Given the description of an element on the screen output the (x, y) to click on. 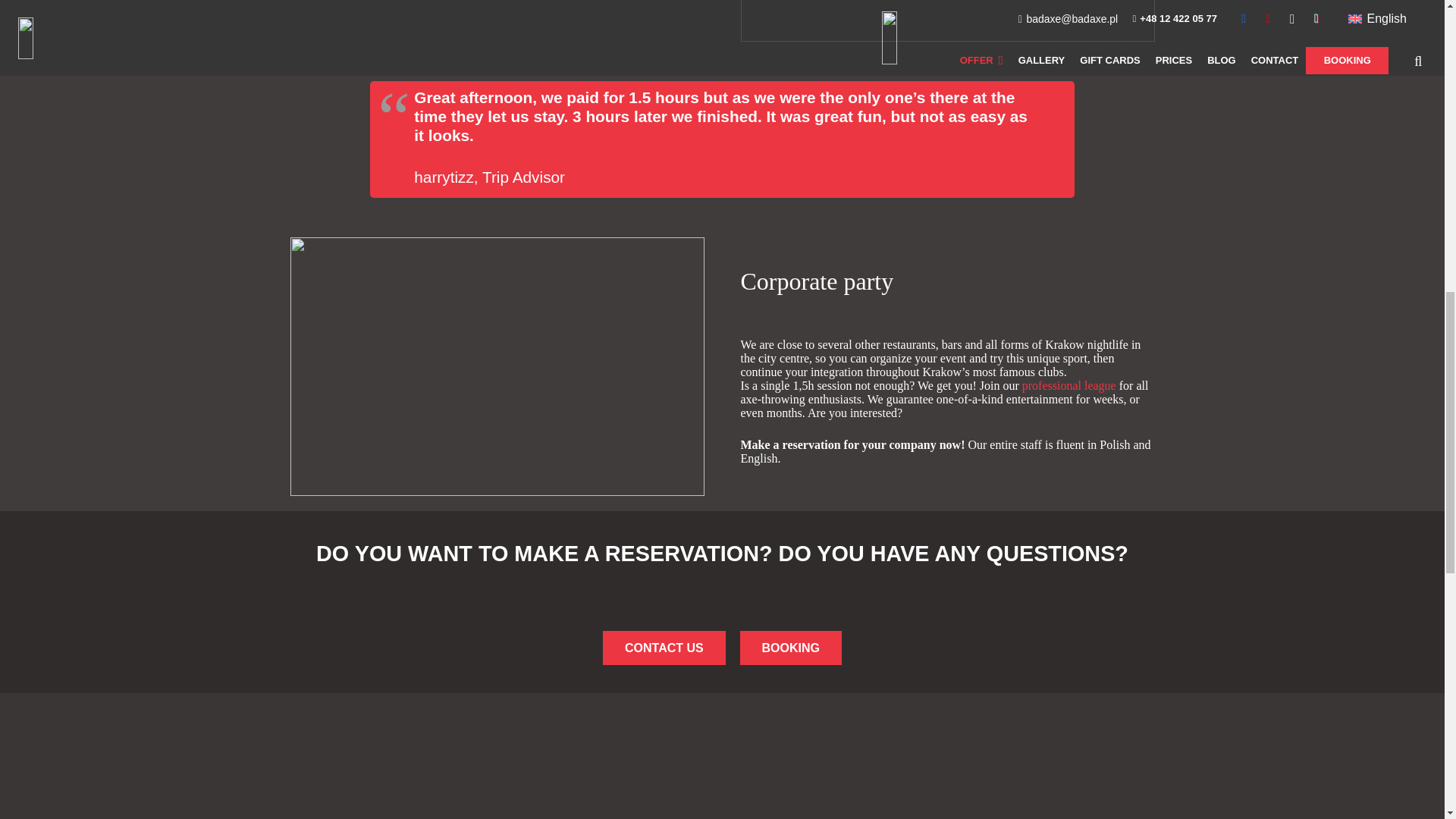
BOOKING (790, 647)
CONTACT US (663, 647)
CONTACT US (663, 647)
CONTACT US (790, 647)
professional league (1069, 385)
